Given the description of an element on the screen output the (x, y) to click on. 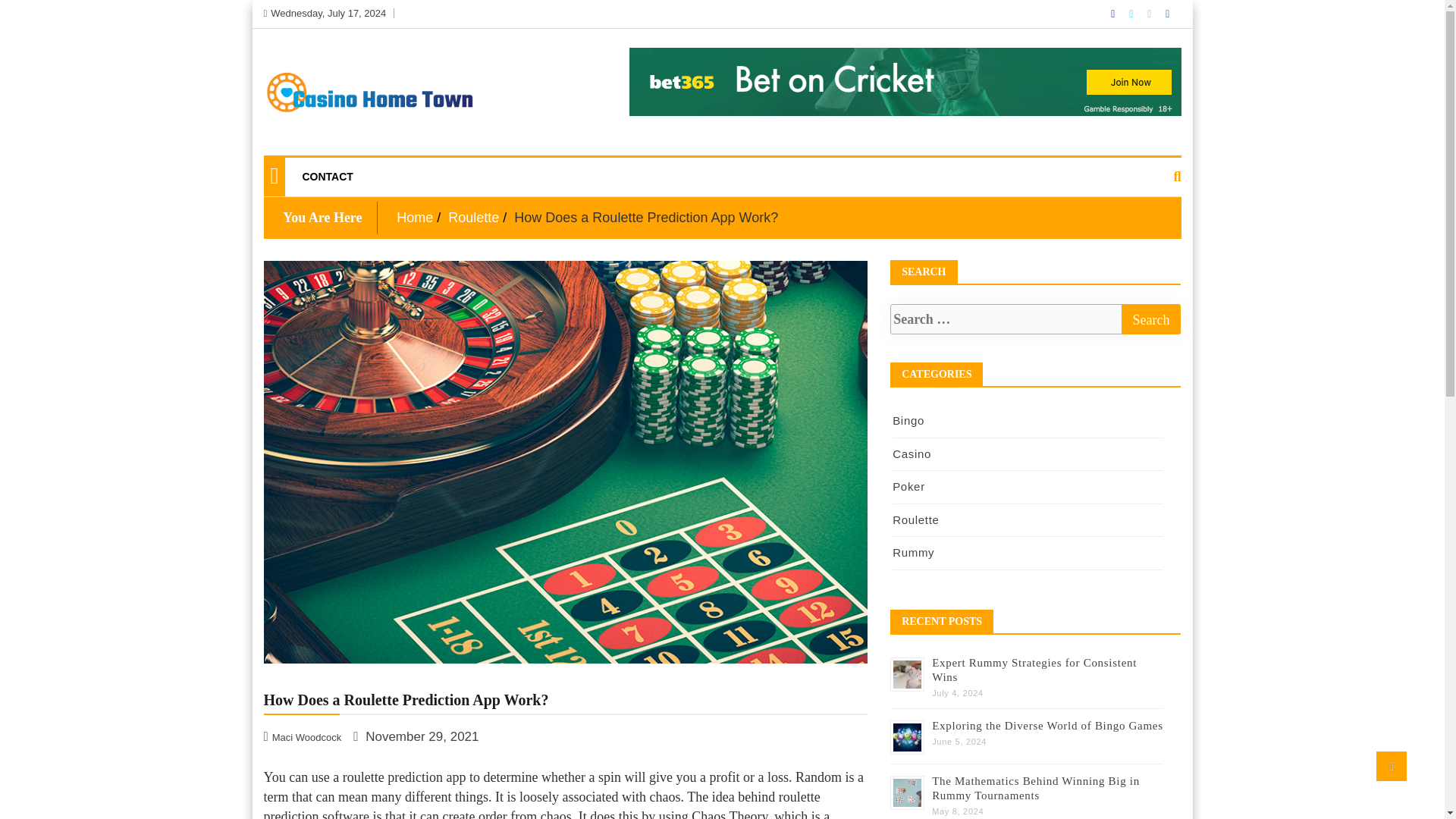
Search (1150, 318)
November 29, 2021 (415, 736)
Maci Woodcock (304, 736)
Facebook (1114, 13)
Bingo (908, 420)
CONTACT (326, 176)
Instagram (1150, 13)
Roulette (915, 518)
Rummy (913, 552)
Casino Home Town (341, 151)
Poker (908, 486)
Search (1150, 318)
Twitter (1132, 13)
Linkedin (1167, 13)
Search (1150, 318)
